Given the description of an element on the screen output the (x, y) to click on. 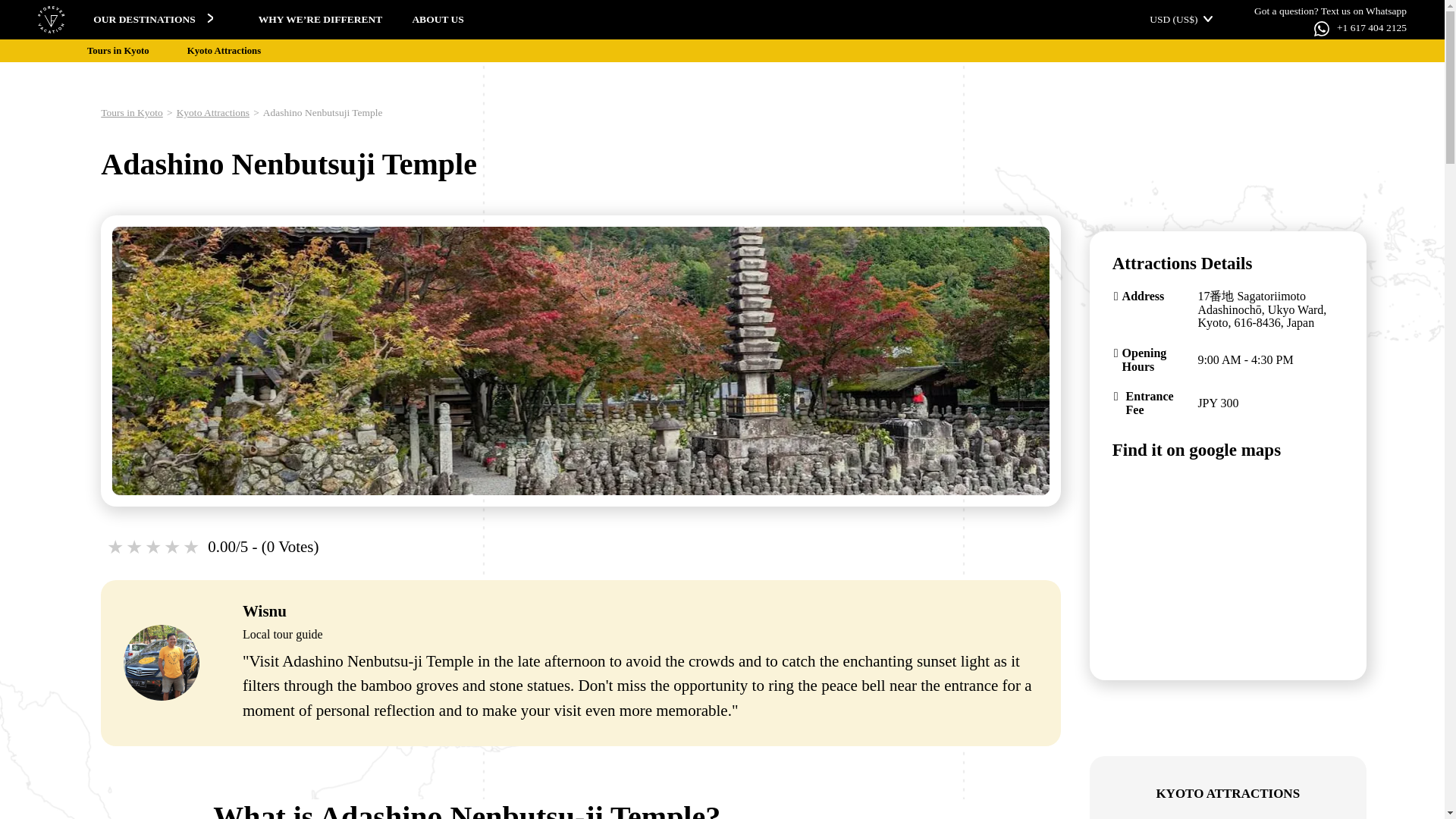
2 stars (134, 547)
4 stars (173, 547)
1 stars (115, 547)
5 stars (192, 547)
OUR DESTINATIONS (154, 19)
3 stars (153, 547)
